Given the description of an element on the screen output the (x, y) to click on. 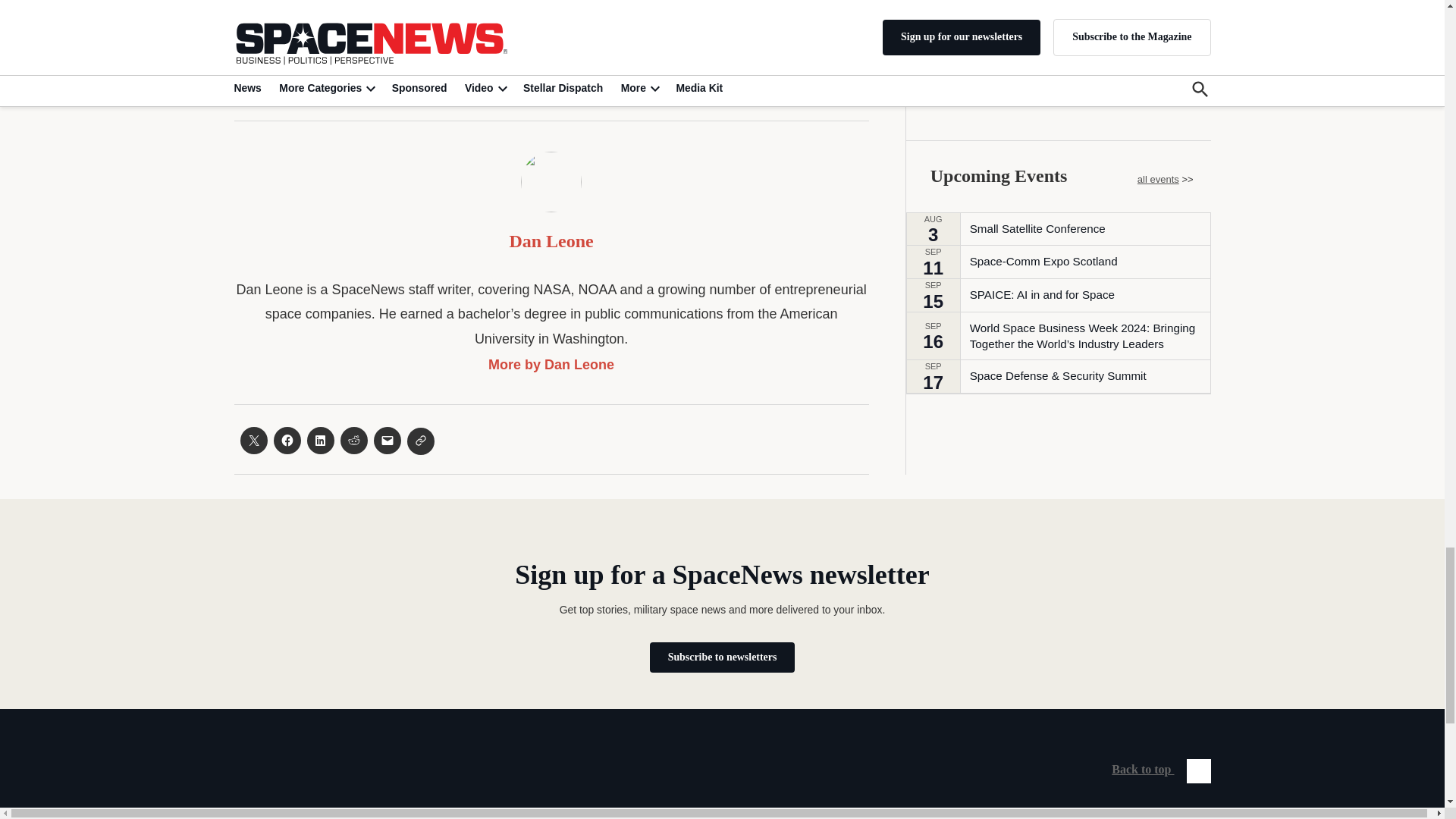
Click to share on X (253, 440)
Click to share on Facebook (286, 440)
Click to share on Reddit (352, 440)
Click to share on LinkedIn (319, 440)
Click to email a link to a friend (386, 440)
Click to share on Clipboard (419, 441)
